Given the description of an element on the screen output the (x, y) to click on. 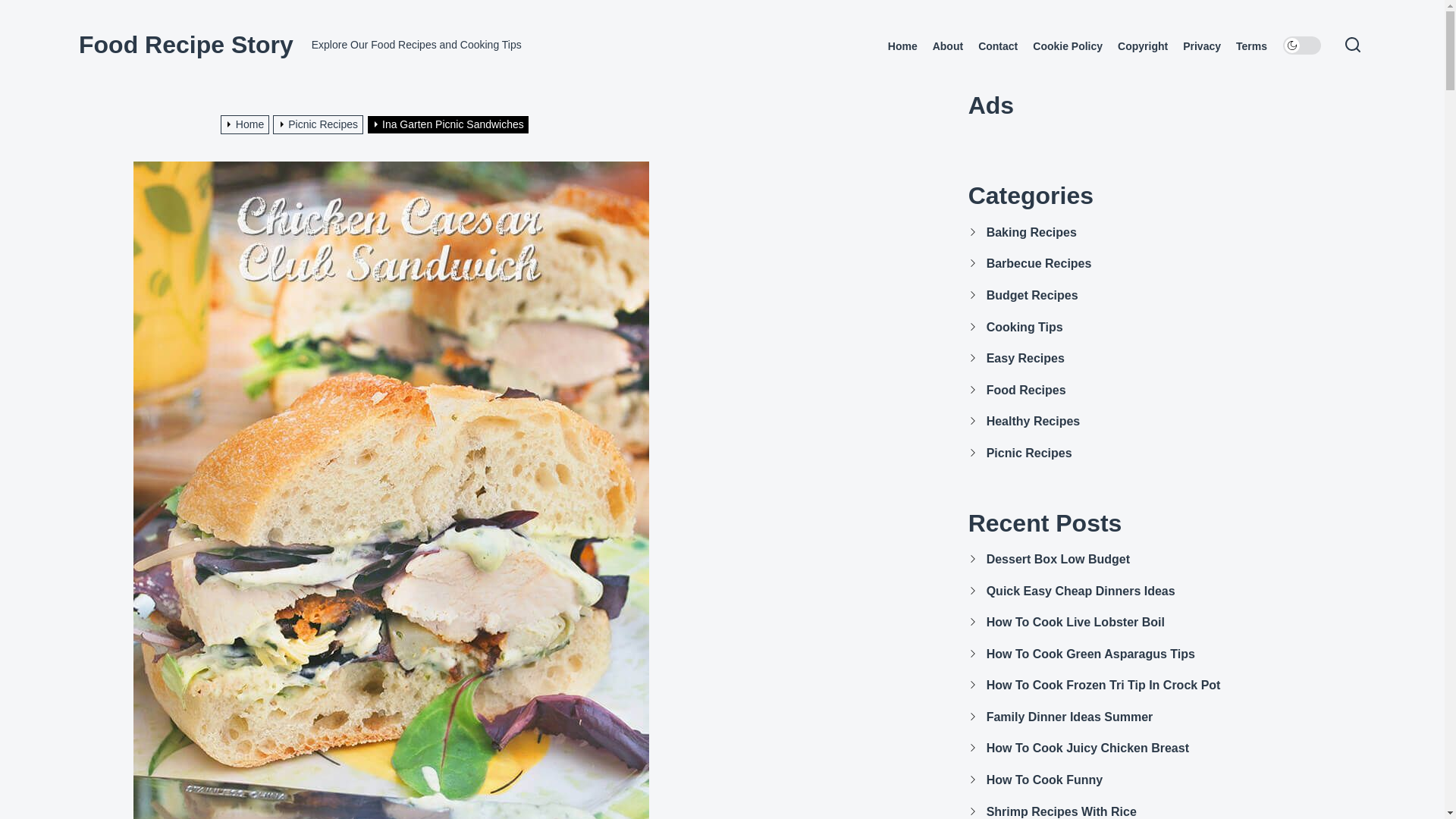
Terms (1251, 46)
Privacy (1201, 46)
Copyright (1142, 46)
Home (247, 123)
Contact (997, 46)
About (947, 46)
Home (902, 46)
Cookie Policy (1067, 46)
Ina Garten Picnic Sandwiches (449, 123)
Food Recipe Story (186, 44)
Picnic Recipes (319, 123)
